Given the description of an element on the screen output the (x, y) to click on. 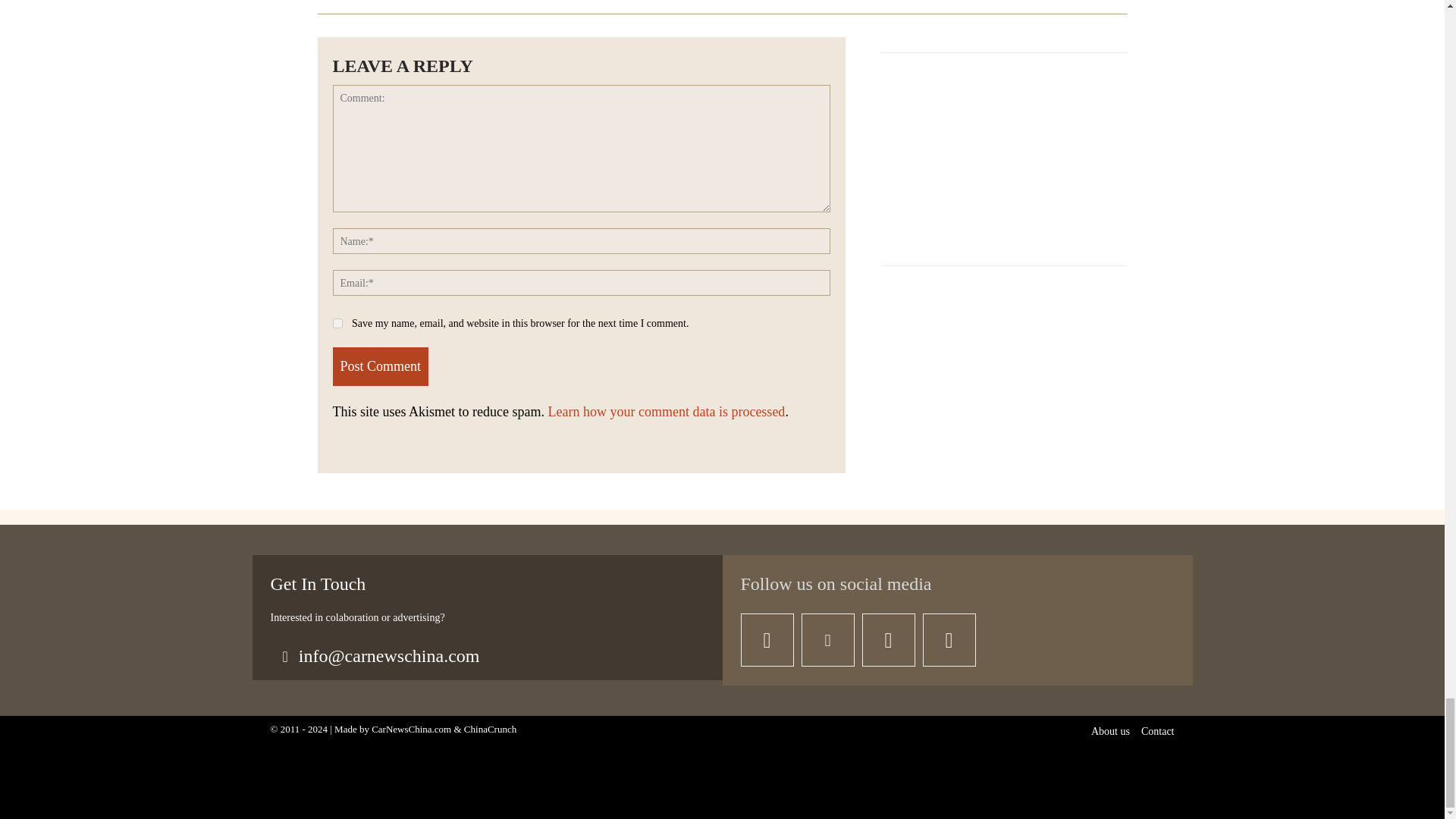
yes (336, 323)
Post Comment (379, 366)
